Given the description of an element on the screen output the (x, y) to click on. 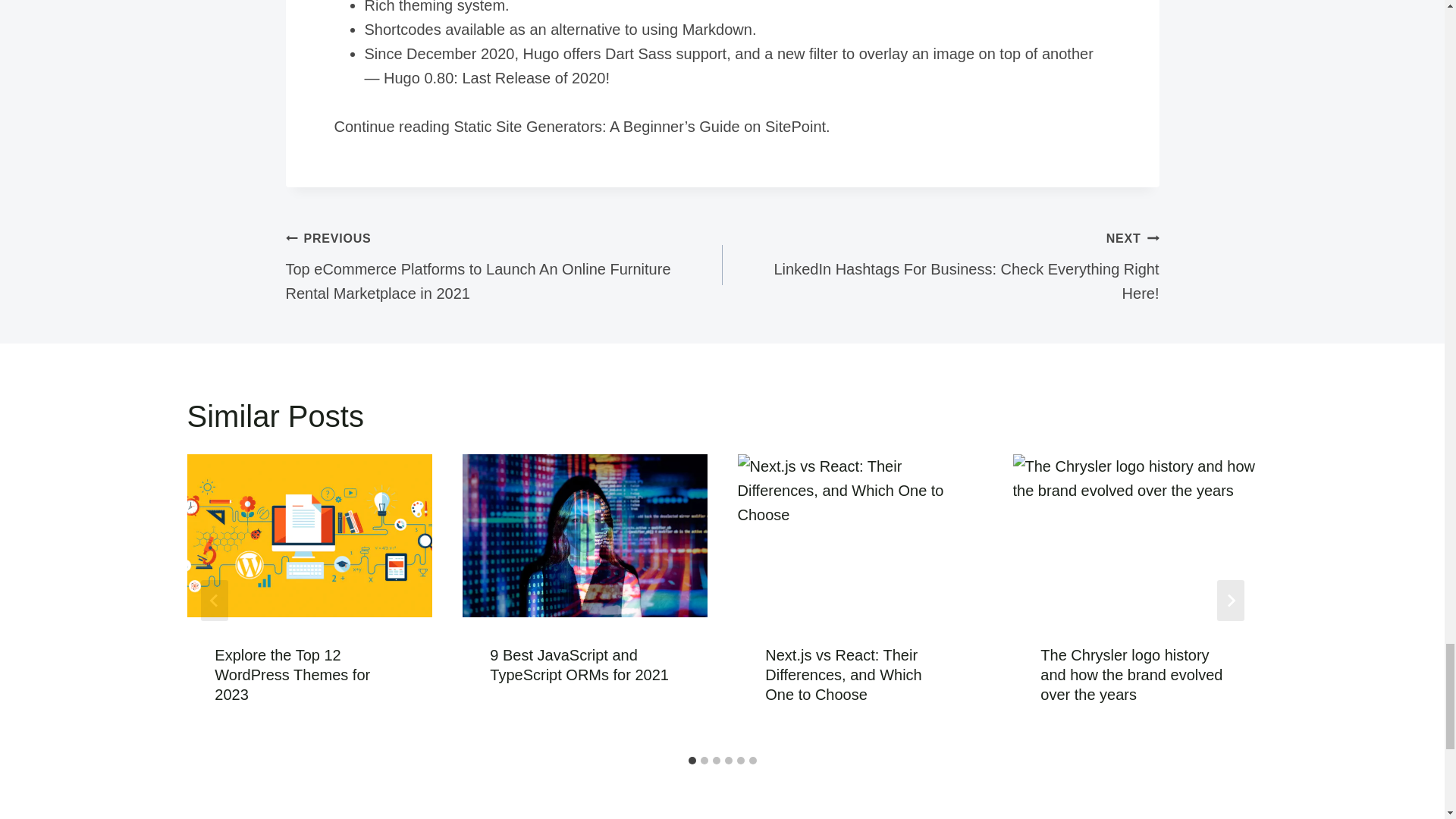
Explore the Top 12 WordPress Themes for 2023 (291, 674)
